Given the description of an element on the screen output the (x, y) to click on. 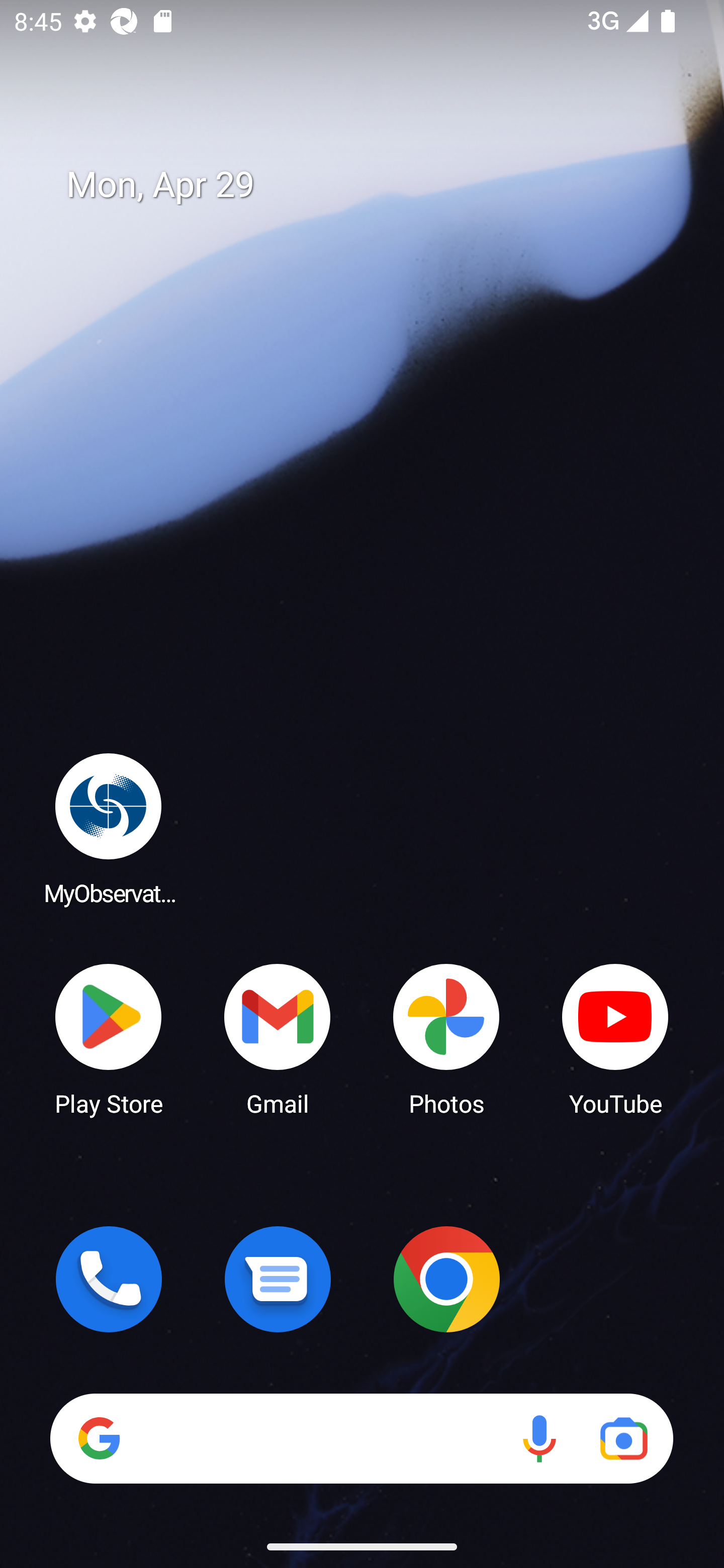
Mon, Apr 29 (375, 184)
MyObservatory (108, 828)
Play Store (108, 1038)
Gmail (277, 1038)
Photos (445, 1038)
YouTube (615, 1038)
Phone (108, 1279)
Messages (277, 1279)
Chrome (446, 1279)
Voice search (539, 1438)
Google Lens (623, 1438)
